Given the description of an element on the screen output the (x, y) to click on. 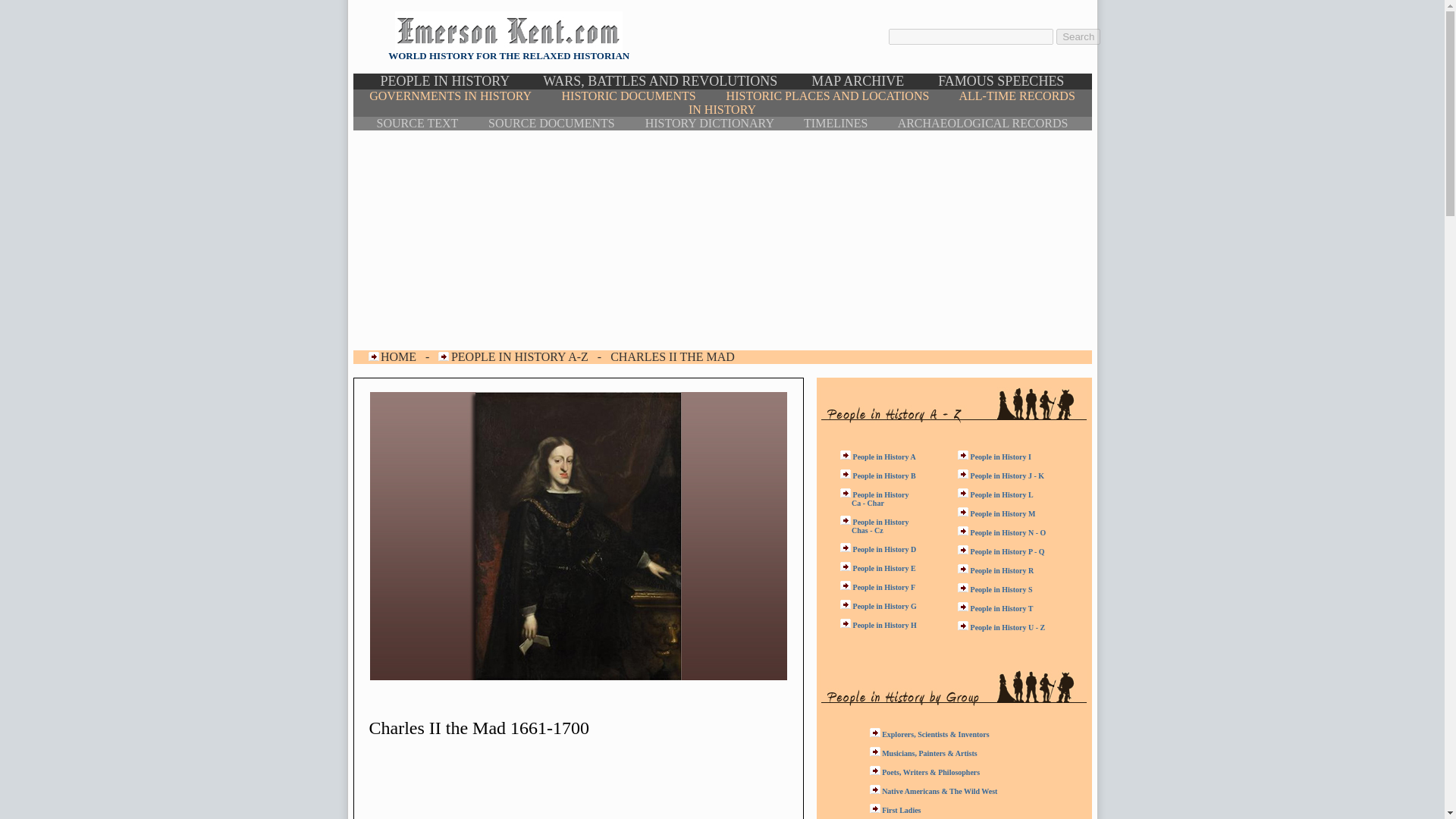
SOURCE TEXT (417, 123)
People in History I (1000, 456)
PEOPLE IN HISTORY A-Z (519, 356)
ALL-TIME RECORDS IN HISTORY (881, 102)
People in History J - K (1008, 475)
People in History E (884, 568)
People in History B (884, 475)
People in History D (885, 549)
HOME (398, 356)
TIMELINES (835, 123)
Advertisement (496, 785)
People in History M (1003, 513)
MAP ARCHIVE (857, 80)
